Given the description of an element on the screen output the (x, y) to click on. 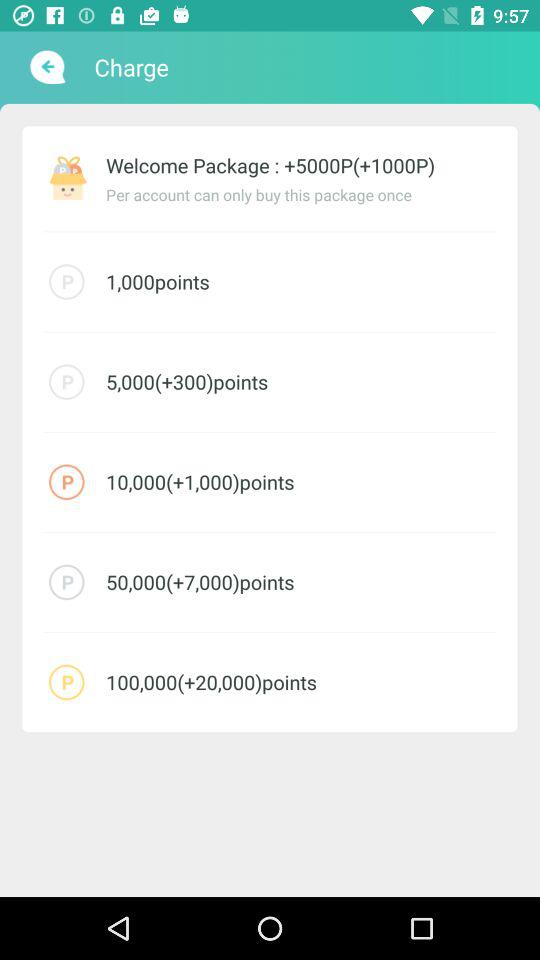
select the icon on left to the text 100001000points on the web page (66, 481)
select the icon on left to the button charge on the web page (45, 67)
select the icon on left to the text 1000 points on the web page (66, 282)
select the icon which is above red icon (66, 382)
